Given the description of an element on the screen output the (x, y) to click on. 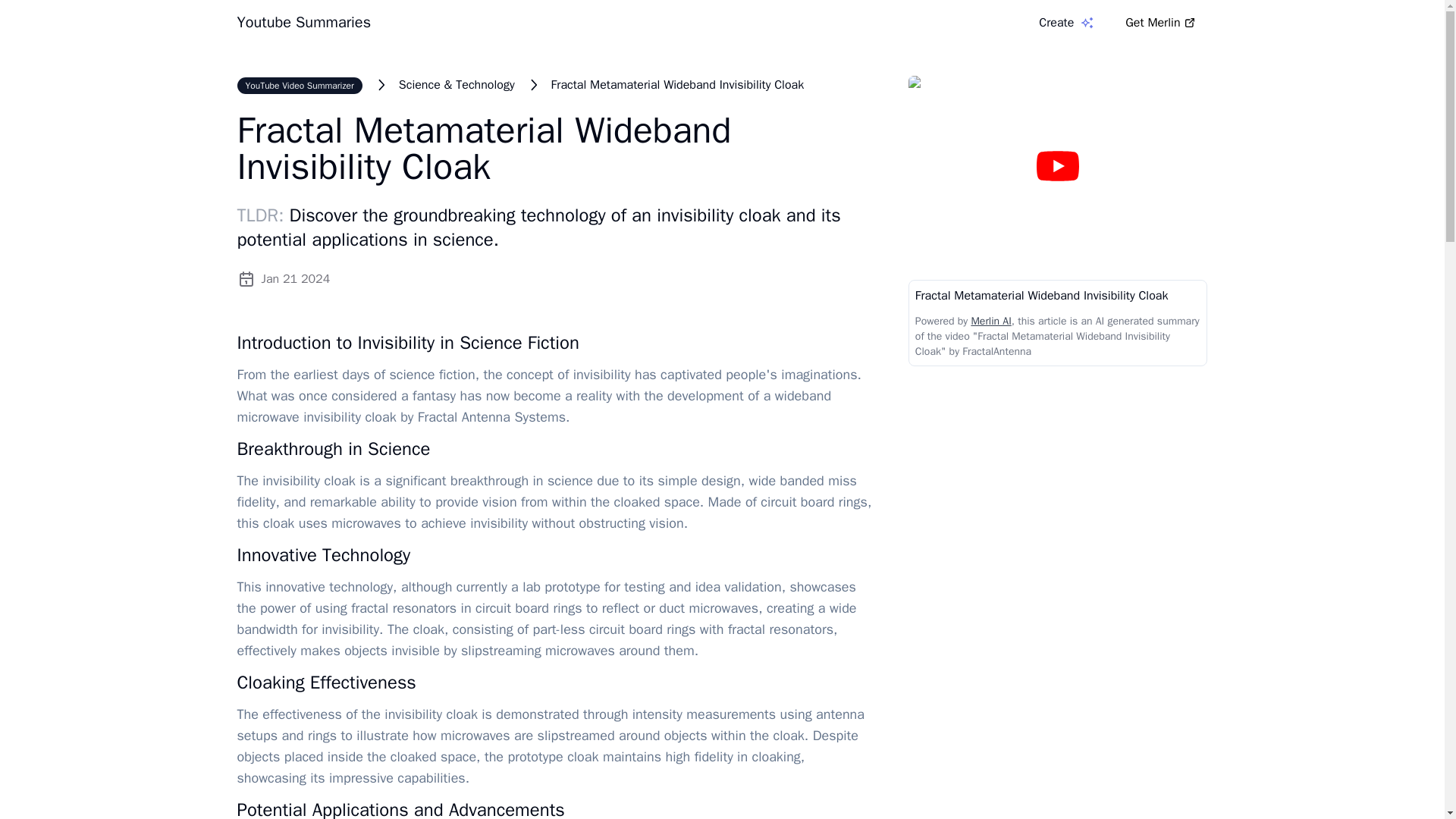
YouTube Video Summarizer (298, 85)
Create (1066, 22)
Get Merlin (1160, 22)
Merlin AI (990, 320)
Youtube Summaries (303, 22)
